Given the description of an element on the screen output the (x, y) to click on. 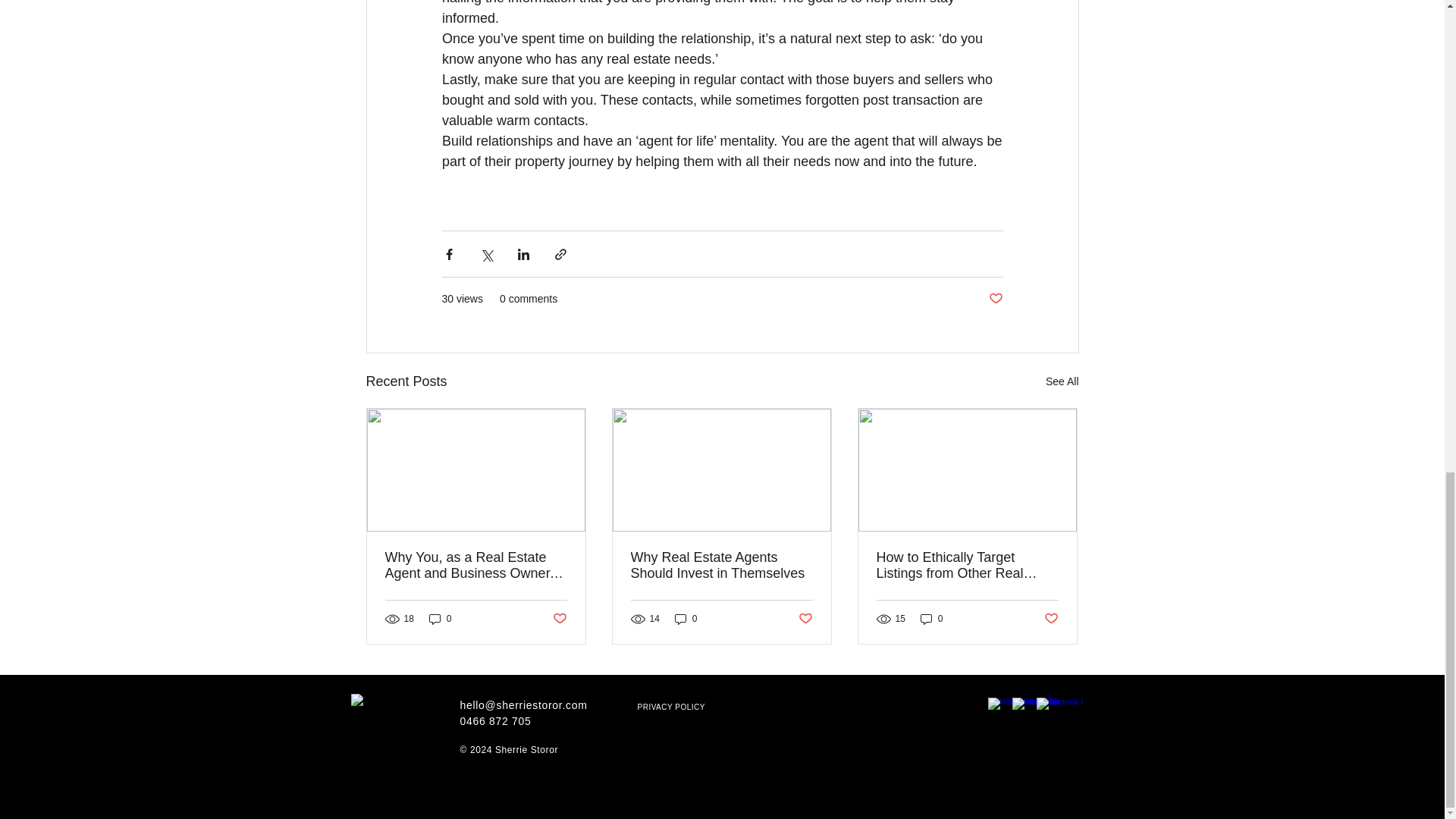
Post not marked as liked (558, 618)
0 (685, 618)
Post not marked as liked (1050, 618)
See All (1061, 382)
Post not marked as liked (995, 299)
Post not marked as liked (804, 618)
0 (931, 618)
Why Real Estate Agents Should Invest in Themselves (721, 565)
